Given the description of an element on the screen output the (x, y) to click on. 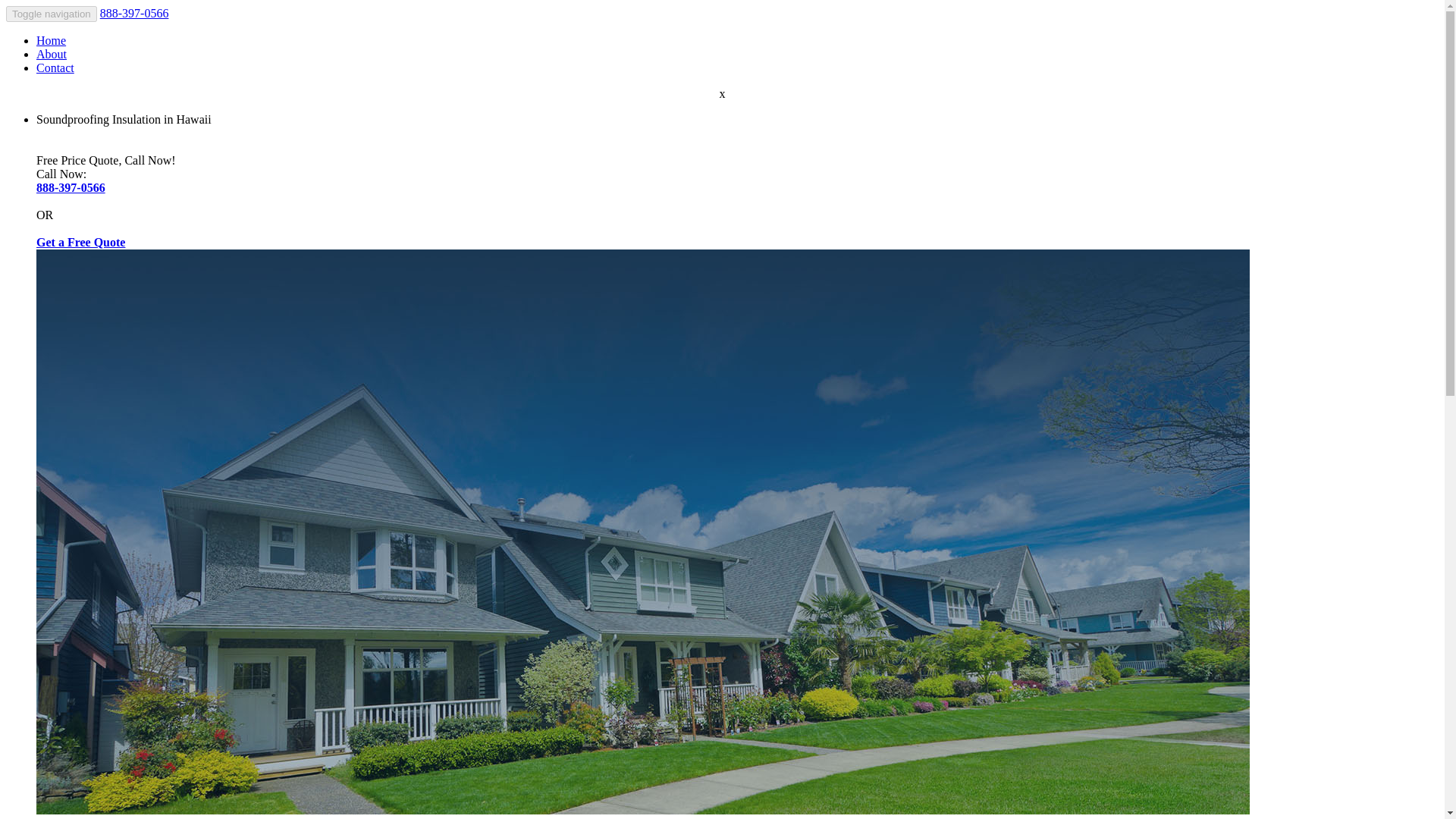
About (51, 53)
Home (50, 40)
Contact (55, 67)
Get a Free Quote (80, 241)
Toggle navigation (51, 13)
888-397-0566 (70, 187)
888-397-0566 (134, 12)
